Given the description of an element on the screen output the (x, y) to click on. 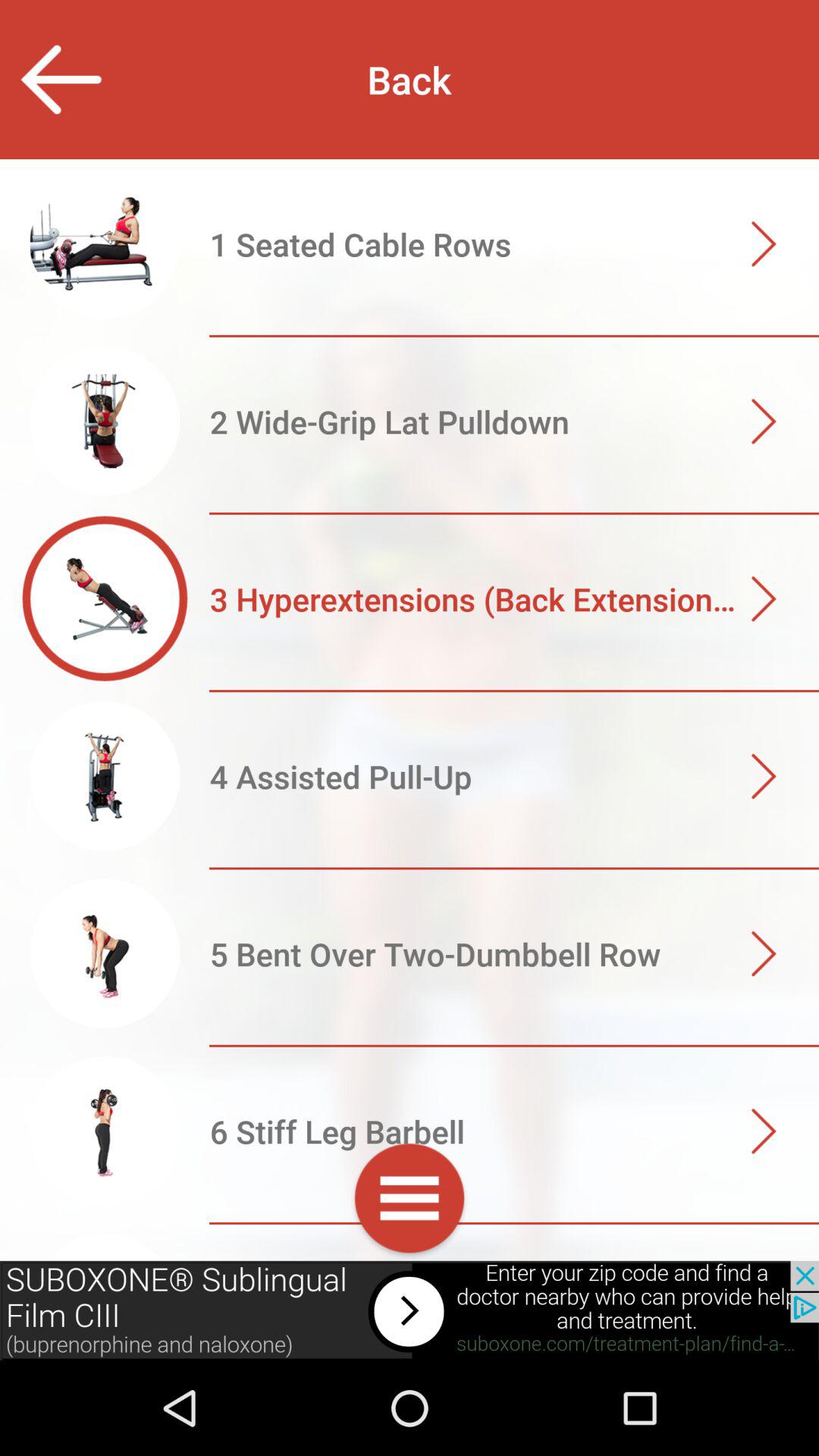
go to previous (59, 79)
